Given the description of an element on the screen output the (x, y) to click on. 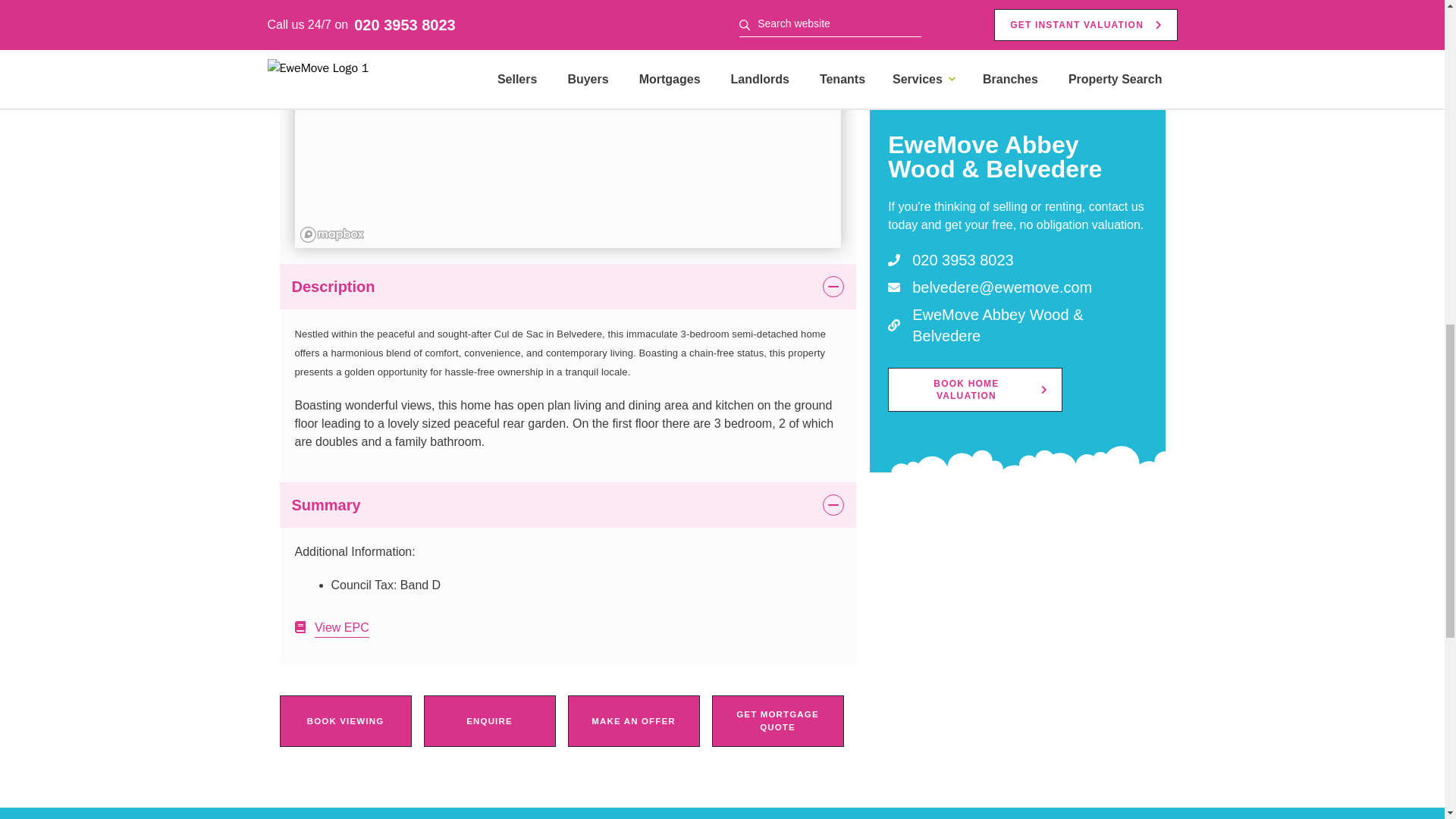
GET MORTGAGE QUOTE (777, 721)
View EPC (331, 626)
BOOK VIEWING (344, 721)
BOOK HOME VALUATION (975, 85)
MAKE AN OFFER (632, 721)
ENQUIRE (488, 721)
